Given the description of an element on the screen output the (x, y) to click on. 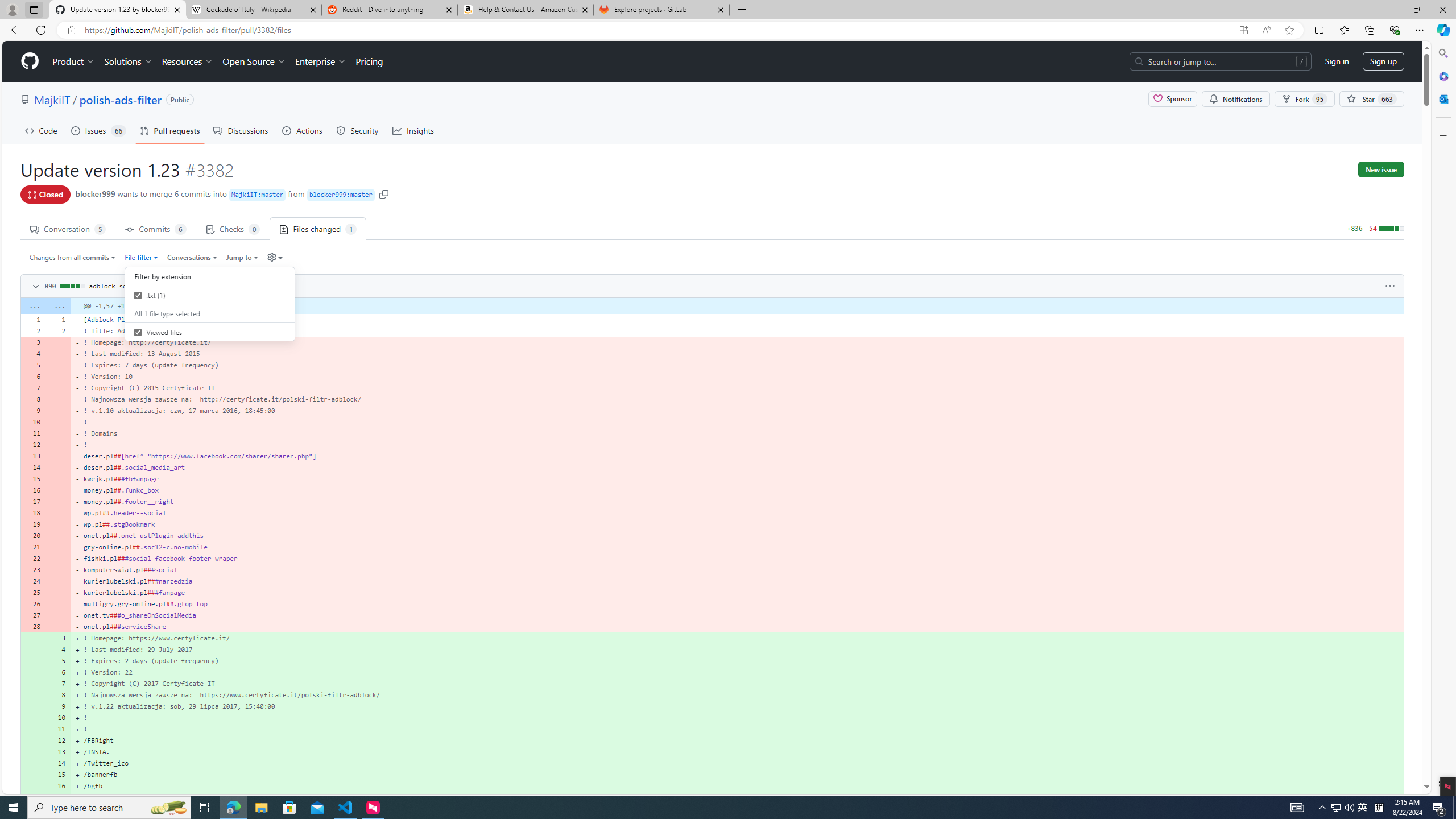
- deser.pl##.social_media_art (737, 467)
9 (58, 706)
- ! Version: 10 (737, 376)
Reddit - Dive into anything (390, 9)
! Title: Adblock polskie reguly social (737, 330)
Jump to (241, 257)
22 (33, 558)
+ /FBRight  (737, 740)
Code (41, 130)
- fishki.pl###social-facebook-footer-wraper (737, 558)
25 (33, 592)
 Files changed 1 (317, 228)
- komputerswiat.pl###social (737, 569)
